Given the description of an element on the screen output the (x, y) to click on. 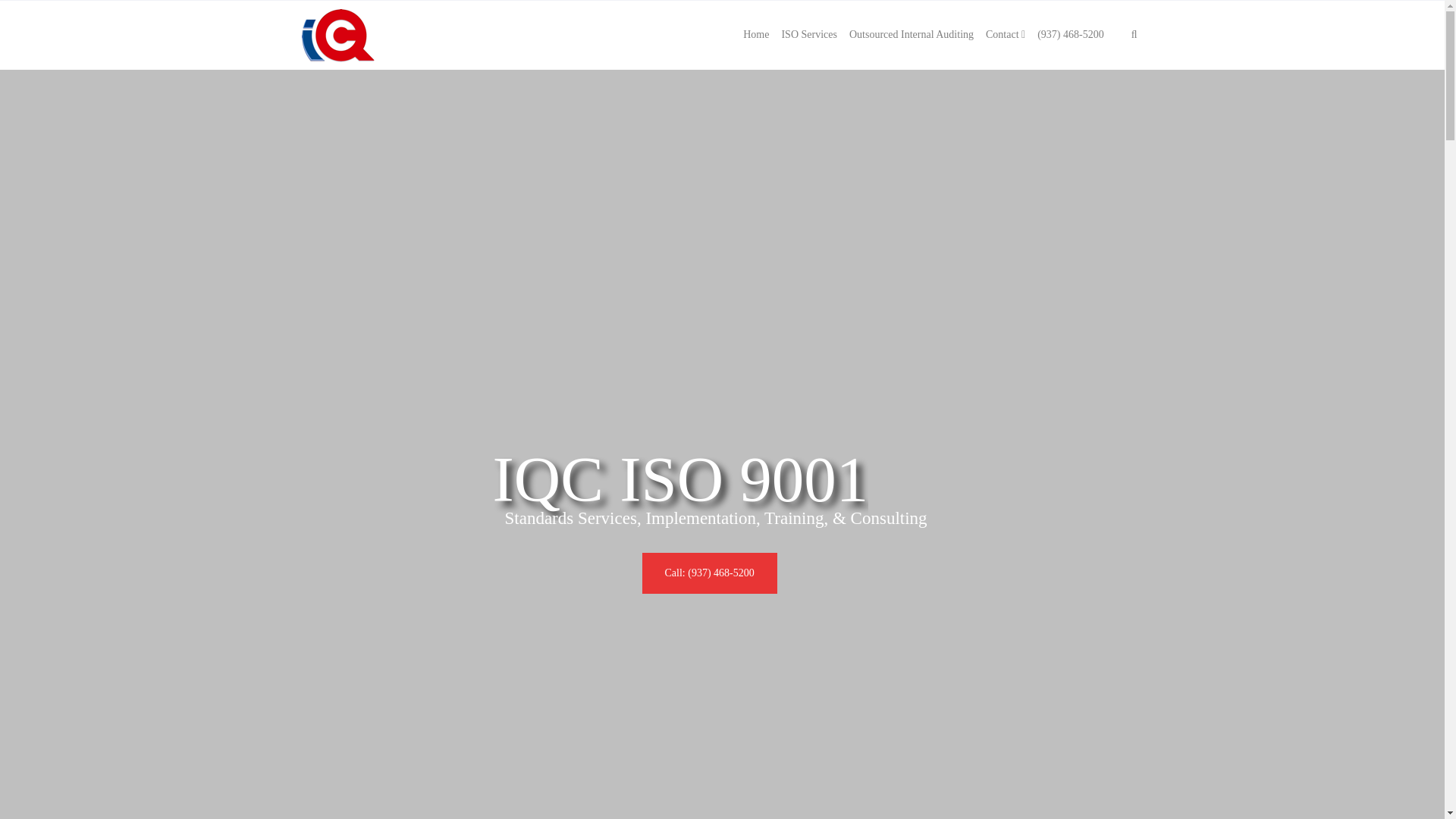
Outsourced Internal Auditing (911, 34)
ISO Services (808, 34)
ISO Services (808, 34)
Outsourced Internal Auditing (911, 34)
